Given the description of an element on the screen output the (x, y) to click on. 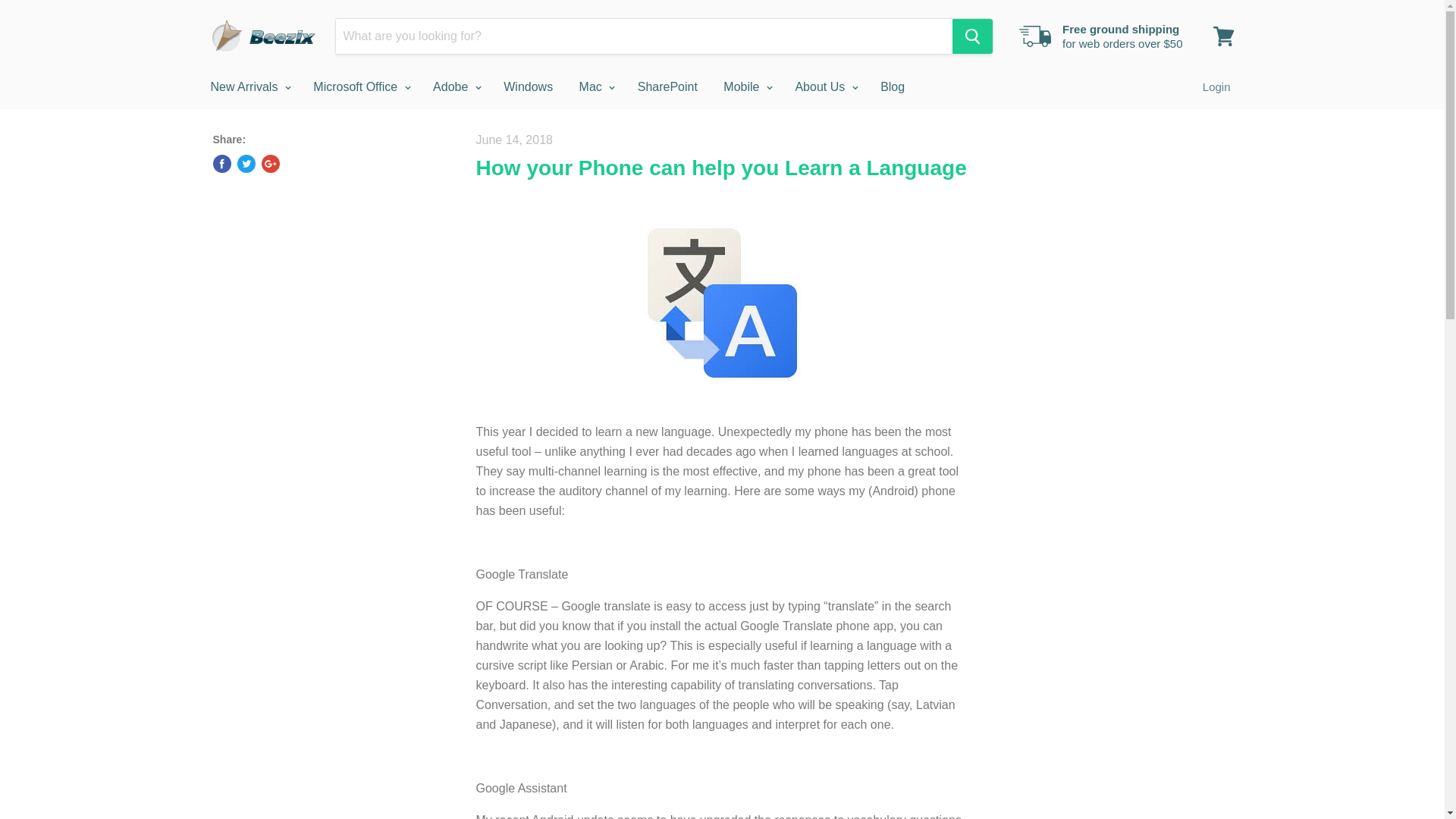
New Arrivals (248, 87)
Adobe (455, 87)
Microsoft Office (359, 87)
Mac (595, 87)
View cart (1223, 36)
Windows (528, 87)
